Given the description of an element on the screen output the (x, y) to click on. 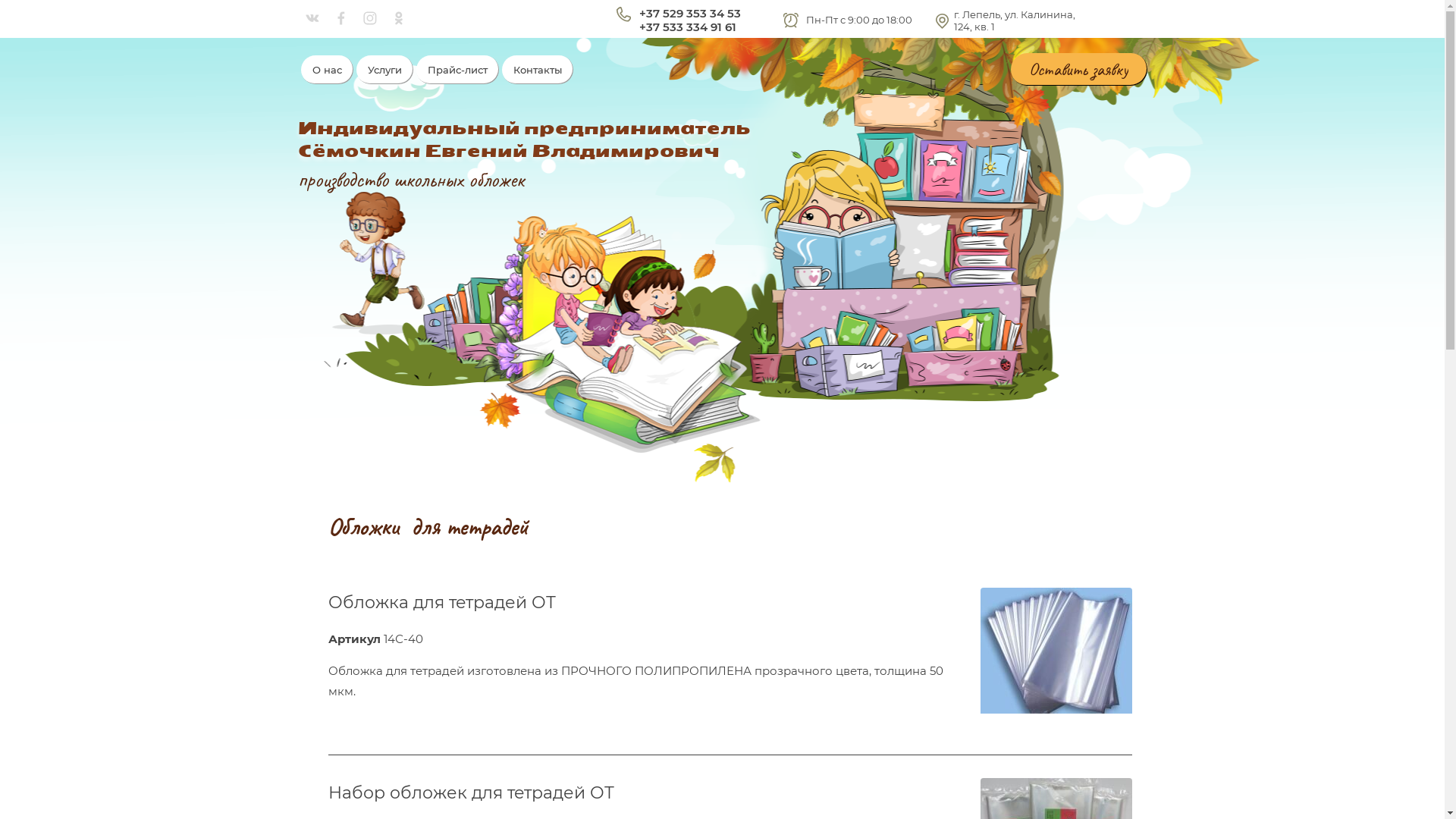
+37 533 334 91 61 Element type: text (686, 26)
+37 529 353 34 53 Element type: text (689, 13)
